Given the description of an element on the screen output the (x, y) to click on. 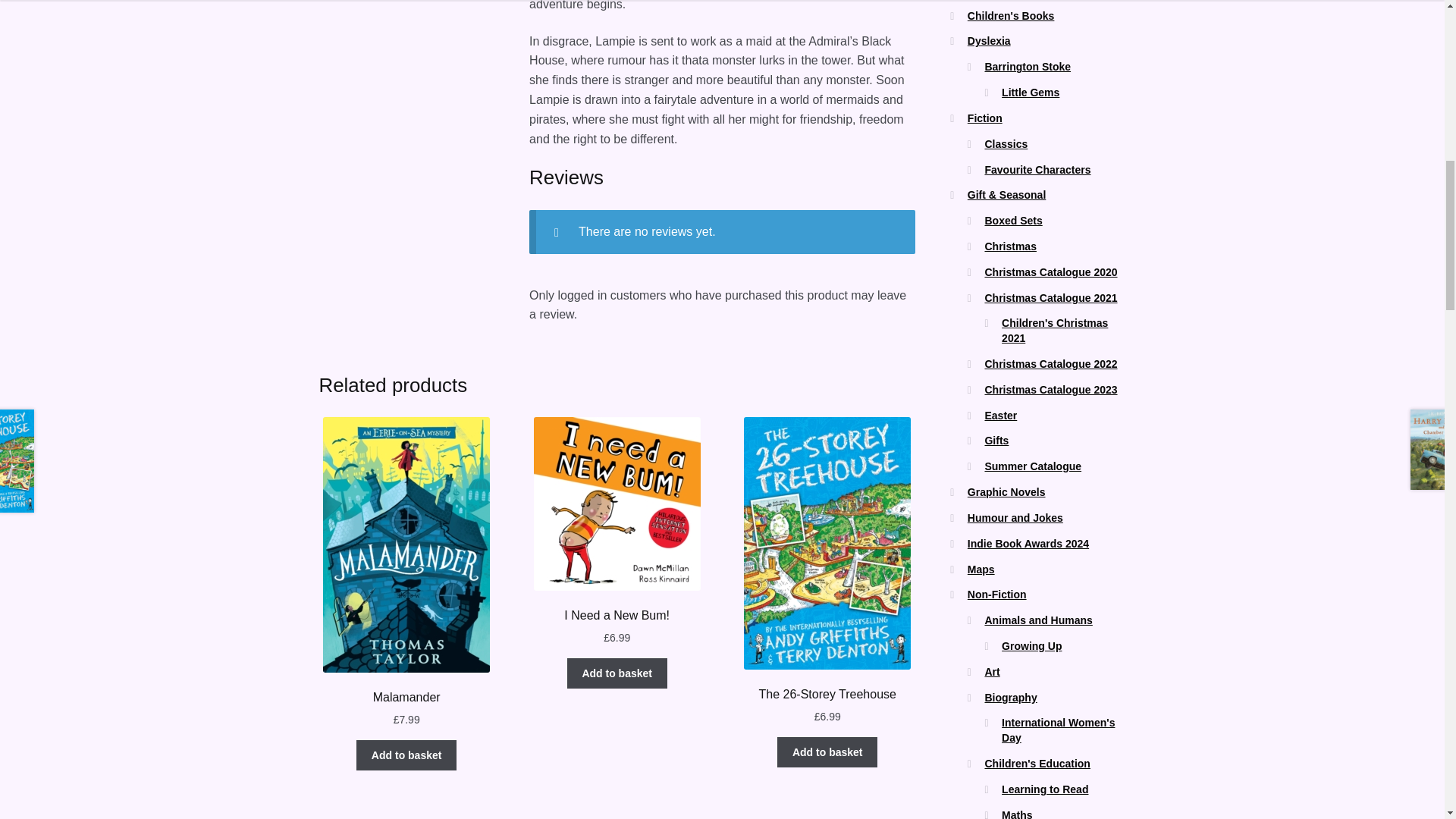
Add to basket (827, 752)
Add to basket (406, 755)
Add to basket (616, 673)
